Given the description of an element on the screen output the (x, y) to click on. 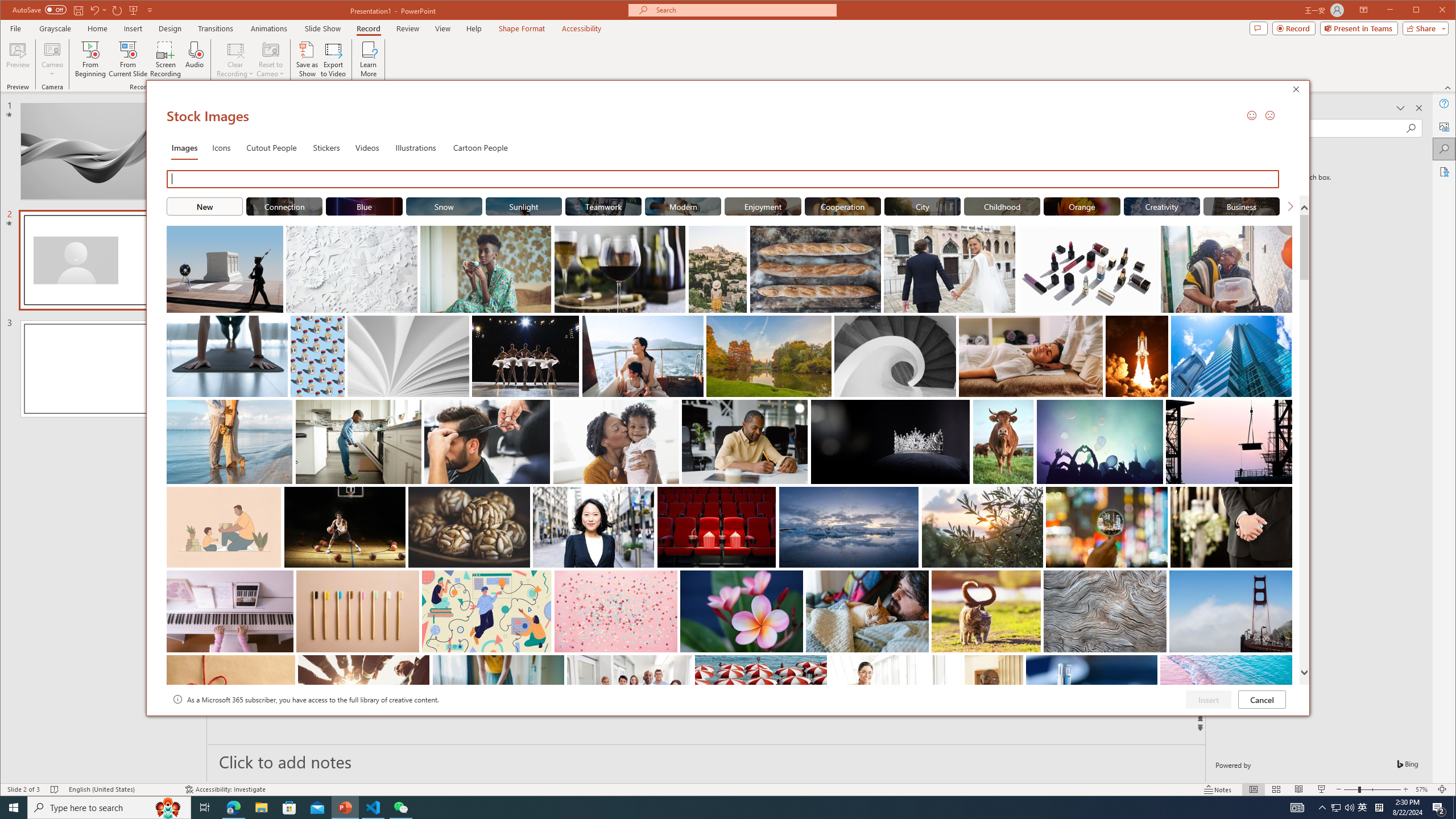
Next Search Suggestion (1290, 206)
Export to Video (333, 59)
"Modern" Stock Images. (682, 206)
Clear Recording (234, 59)
